Given the description of an element on the screen output the (x, y) to click on. 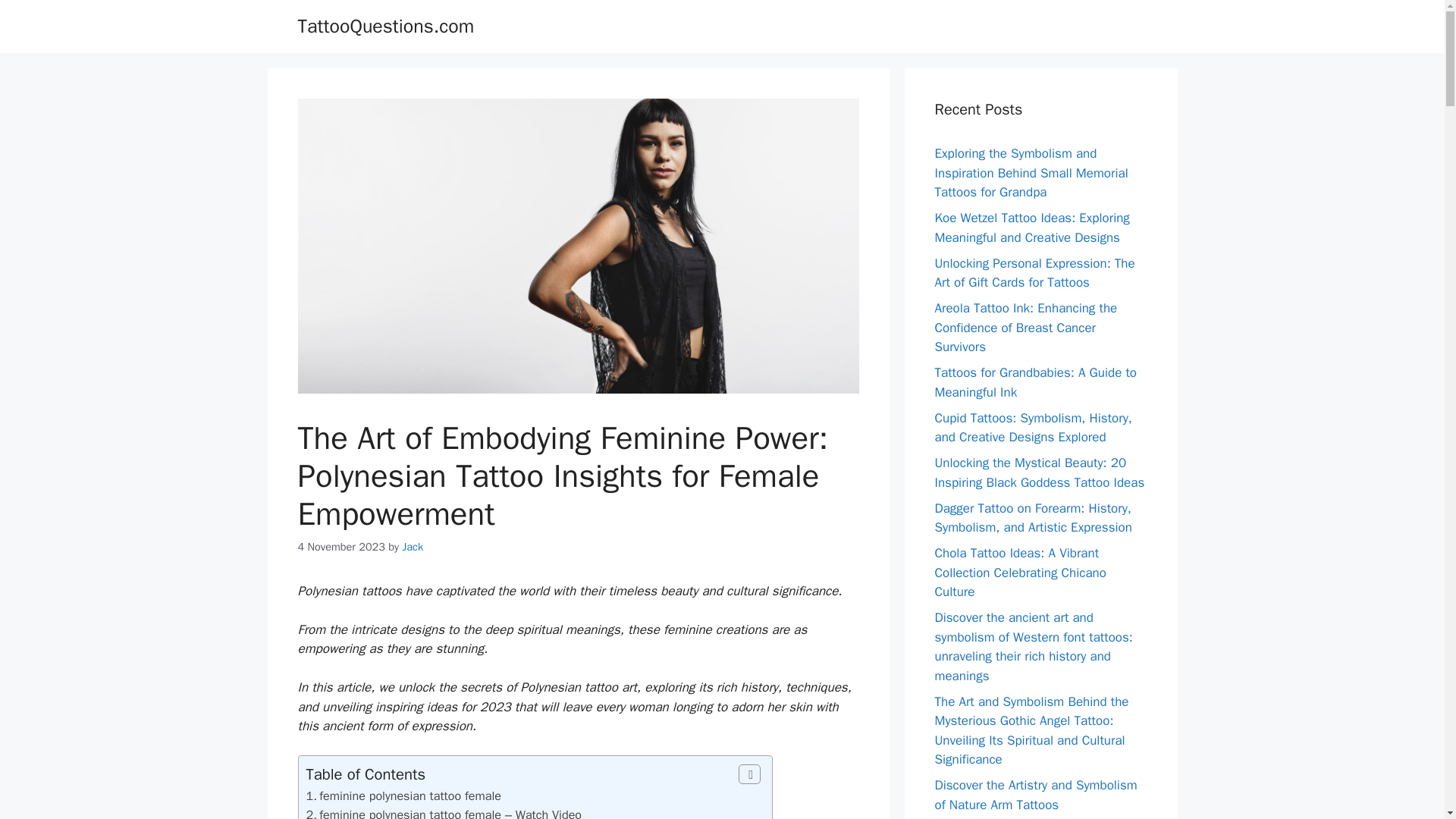
feminine polynesian tattoo female (409, 795)
Jack (412, 546)
View all posts by Jack (412, 546)
feminine polynesian tattoo female (409, 795)
TattooQuestions.com (385, 25)
